Given the description of an element on the screen output the (x, y) to click on. 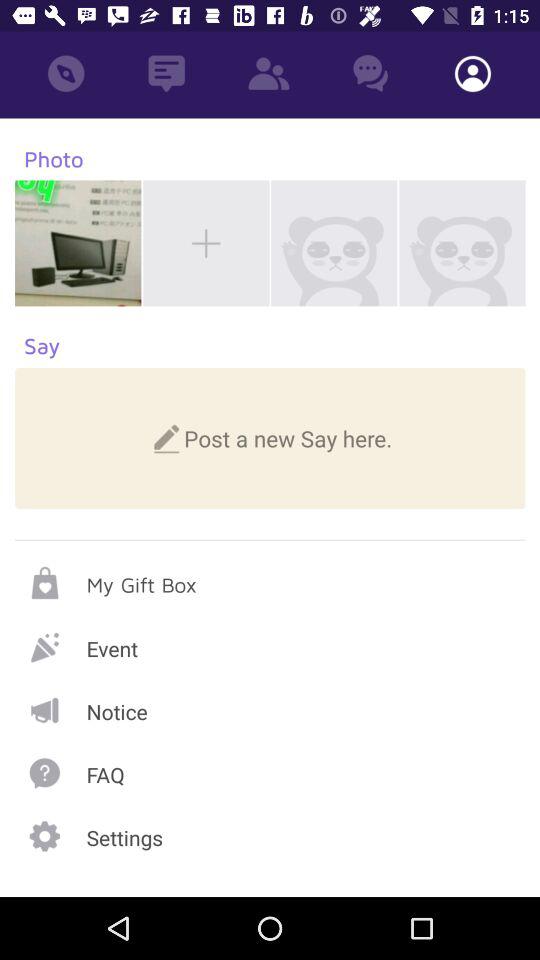
notices button (270, 709)
